Given the description of an element on the screen output the (x, y) to click on. 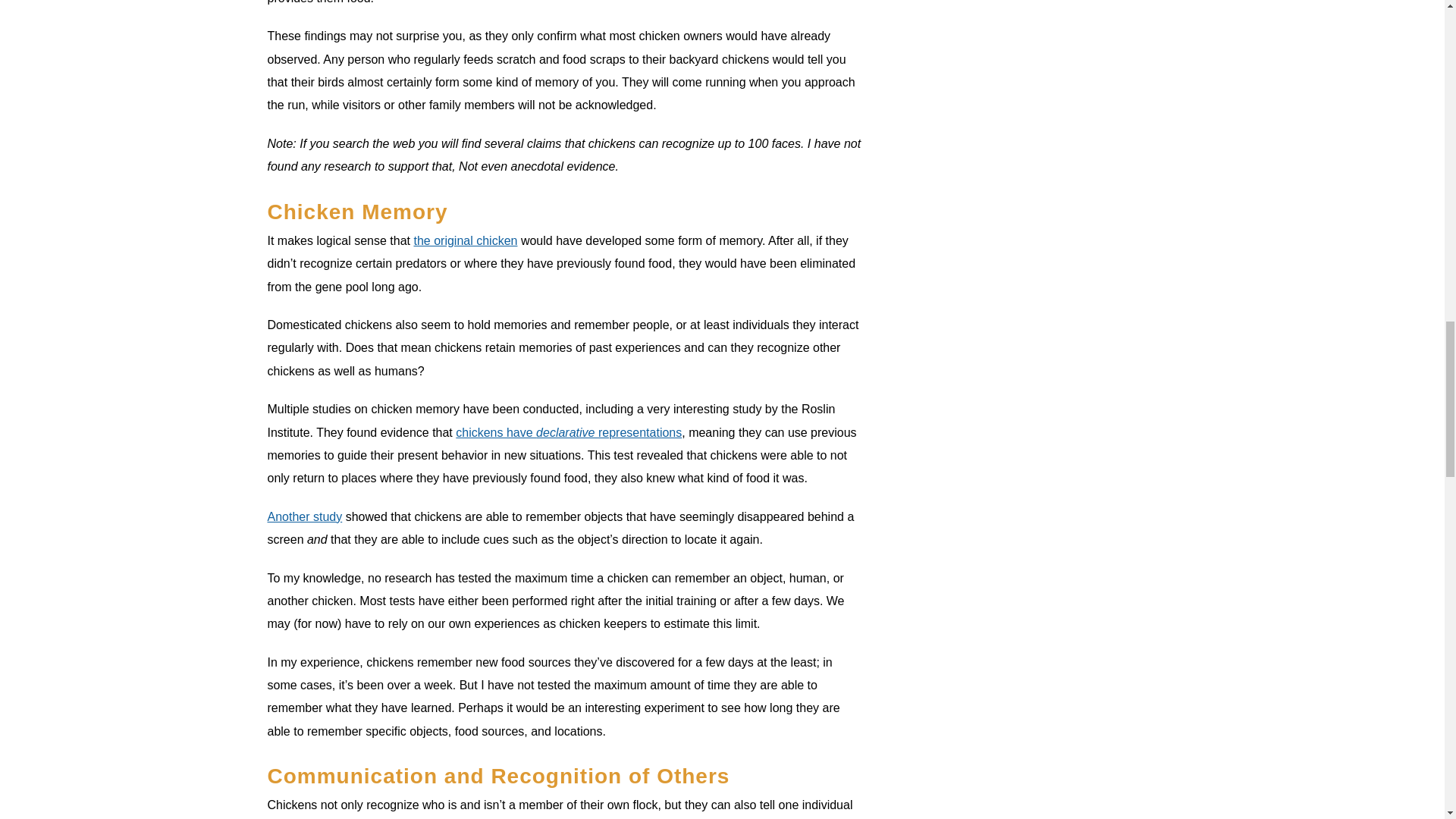
chickens have declarative representations (568, 431)
the original chicken (464, 240)
Another study (304, 516)
